Given the description of an element on the screen output the (x, y) to click on. 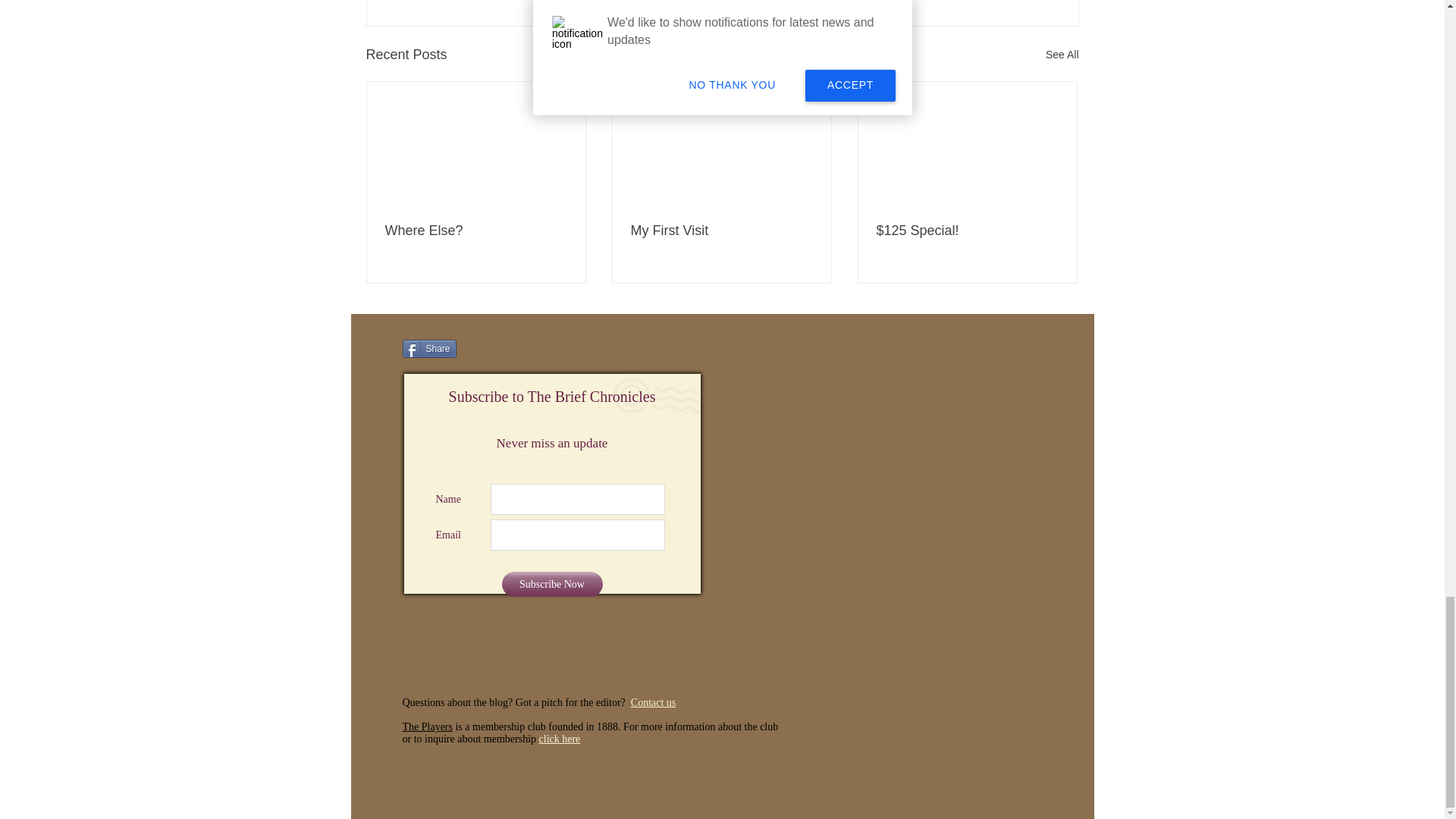
See All (1061, 55)
Where Else? (476, 230)
Subscribe Now (552, 584)
Share (428, 348)
My First Visit (721, 230)
Share (428, 348)
